Given the description of an element on the screen output the (x, y) to click on. 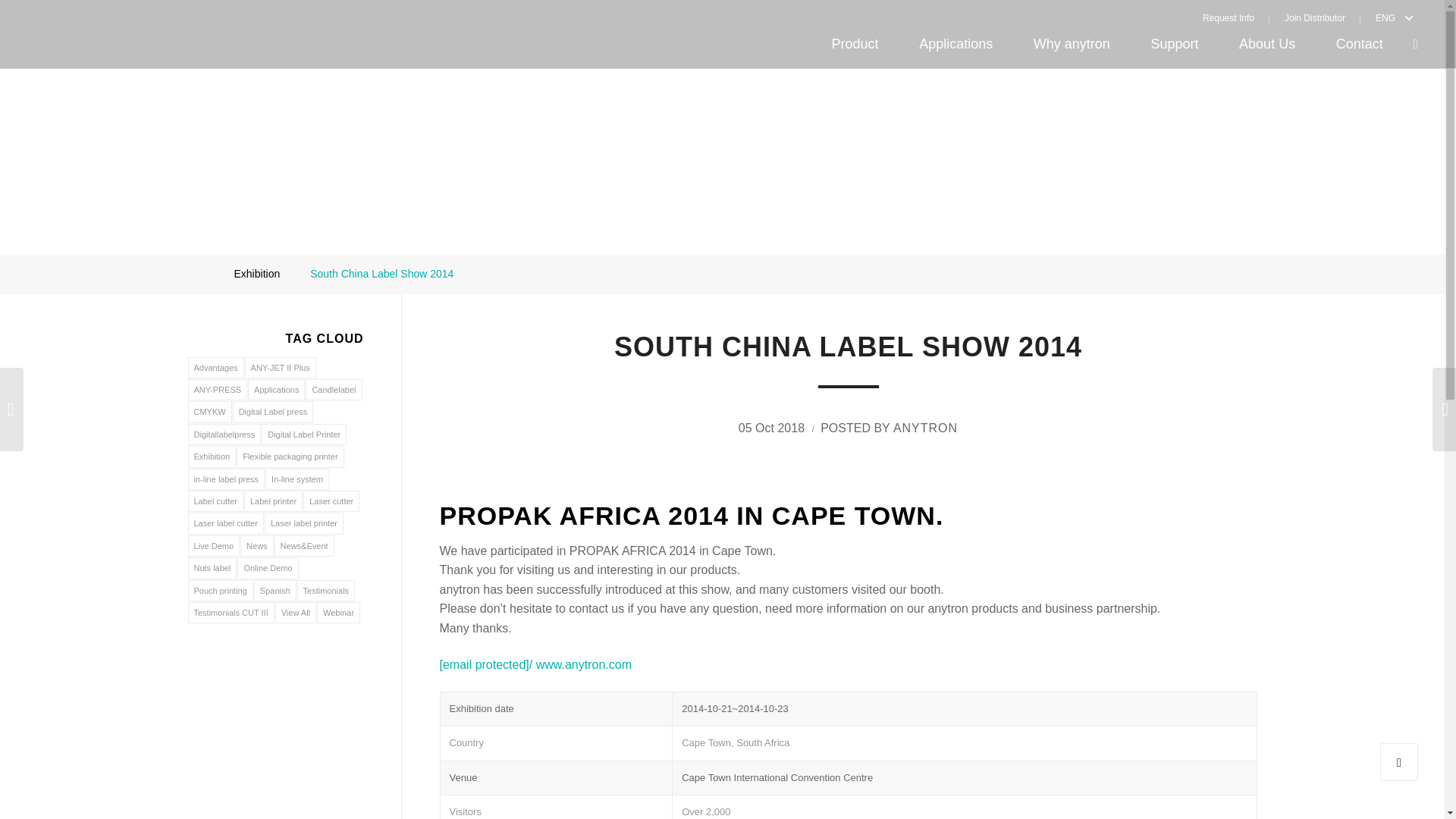
Applications (955, 44)
Scroll to top (1399, 761)
ENG (1381, 17)
Request Info (1235, 17)
Product (855, 44)
Anytron - Digital Print Pro (196, 274)
Join Distributor (1314, 17)
